Given the description of an element on the screen output the (x, y) to click on. 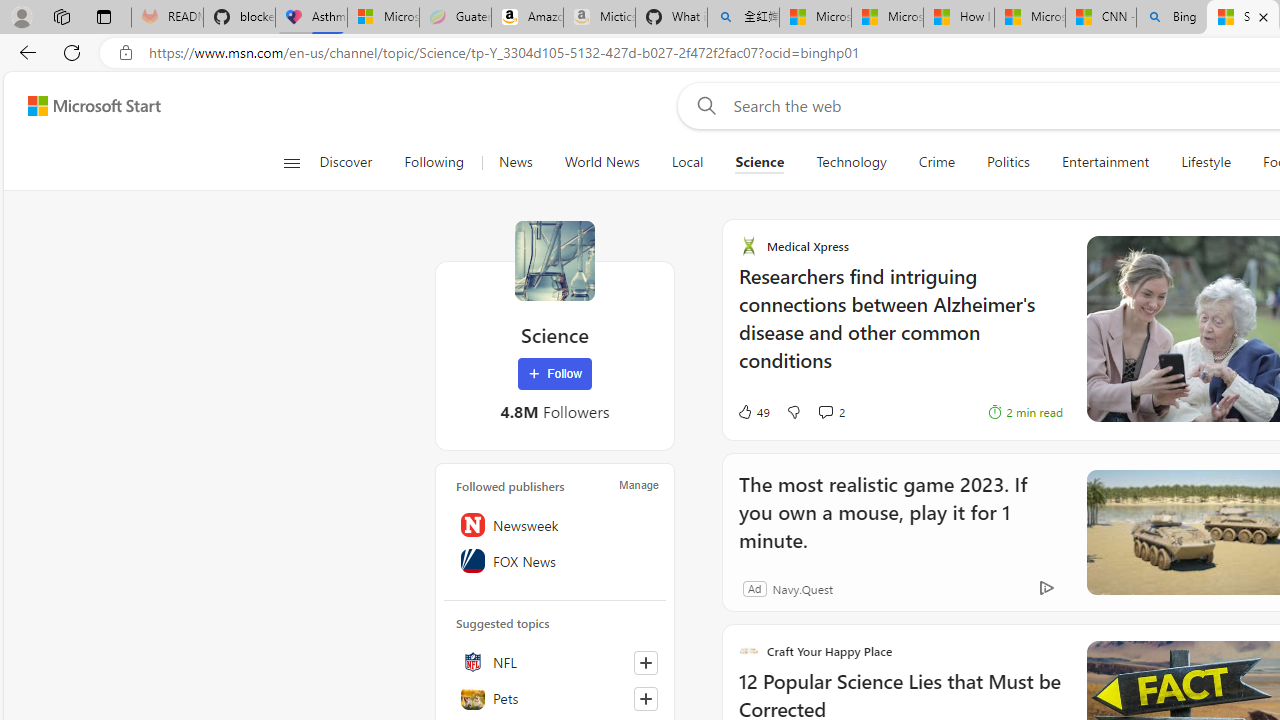
Follow this topic (645, 698)
How I Got Rid of Microsoft Edge's Unnecessary Features (959, 17)
Lifestyle (1206, 162)
Crime (936, 162)
Lifestyle (1205, 162)
Ad (754, 588)
Asthma Inhalers: Names and Types (311, 17)
Discover (345, 162)
Skip to content (86, 105)
Back (24, 52)
Microsoft Start (94, 105)
Technology (851, 162)
